Given the description of an element on the screen output the (x, y) to click on. 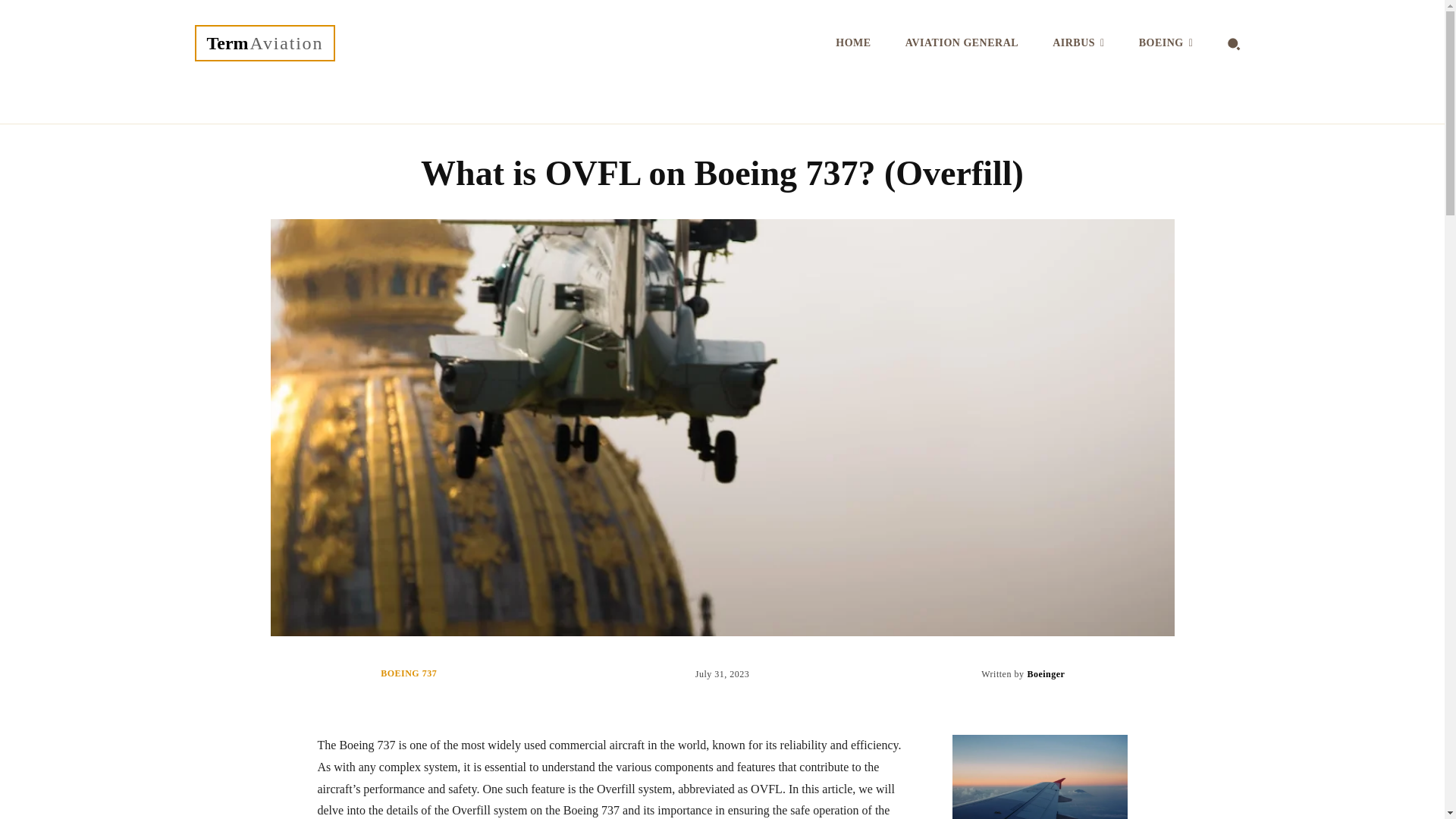
AVIATION GENERAL (961, 43)
Boeinger (264, 43)
BOEING 737 (1045, 673)
